Given the description of an element on the screen output the (x, y) to click on. 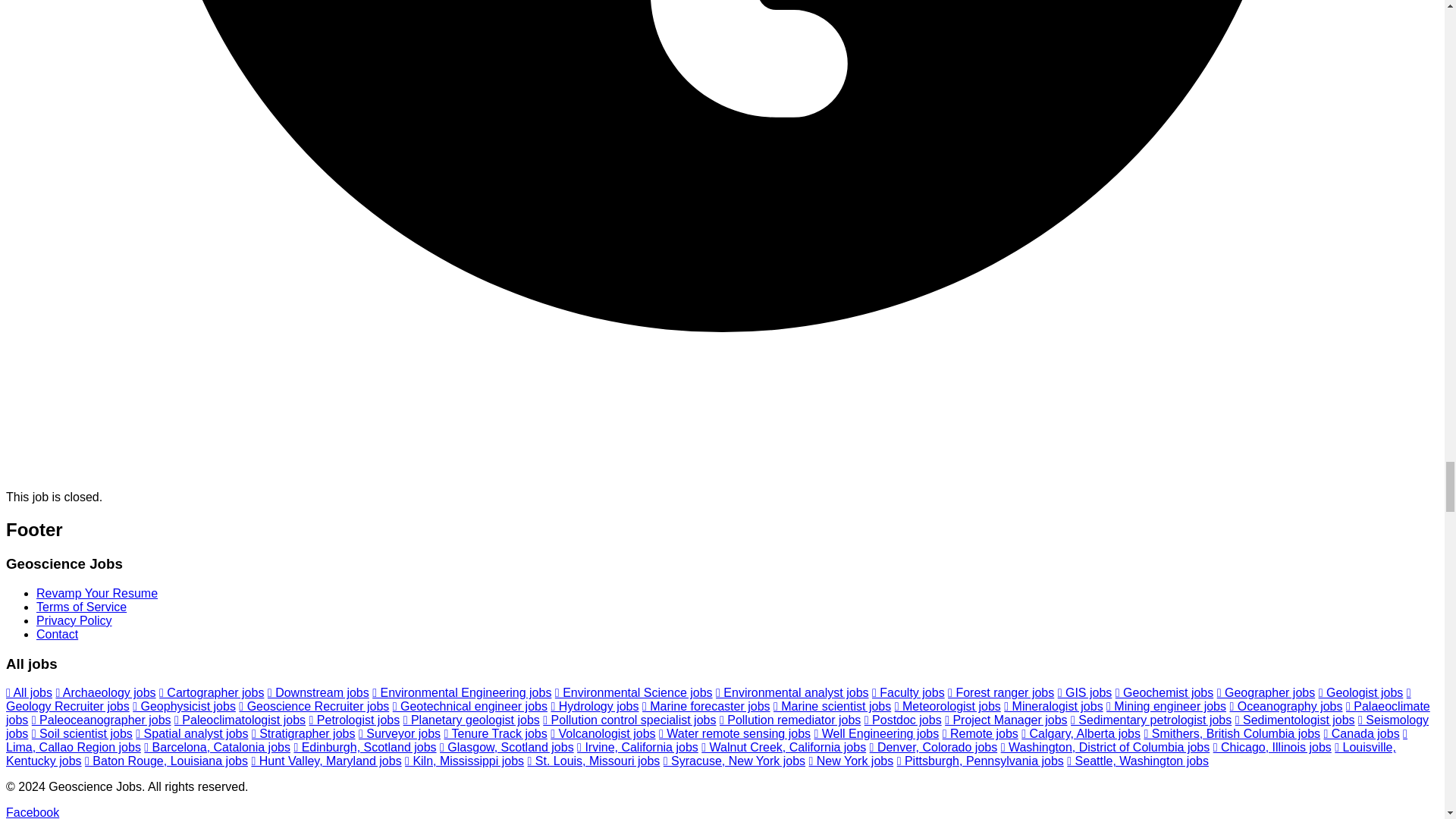
Privacy Policy (74, 620)
Terms of Service (81, 606)
Contact (57, 634)
Revamp Your Resume (96, 593)
